Given the description of an element on the screen output the (x, y) to click on. 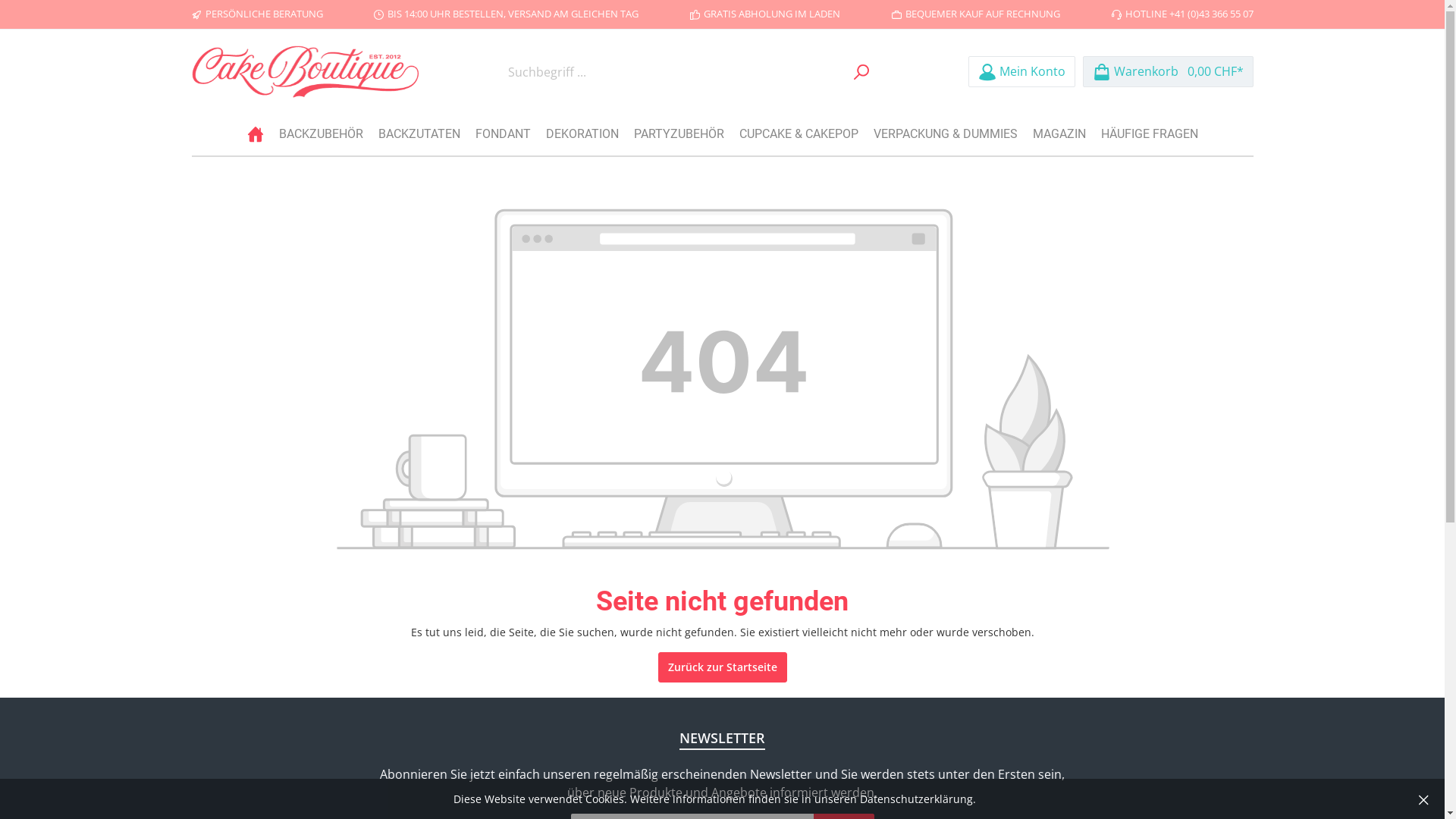
+41 (0)43 366 55 07 Element type: text (1211, 13)
Mein Konto Element type: text (1020, 71)
VERPACKUNG & DUMMIES Element type: text (945, 133)
BACKZUTATEN Element type: text (418, 133)
FONDANT Element type: text (502, 133)
CUPCAKE & CAKEPOP Element type: text (798, 133)
Home Element type: hover (255, 133)
DEKORATION Element type: text (582, 133)
Zur Startseite wechseln Element type: hover (304, 71)
Warenkorb 0,00 CHF* Element type: text (1167, 71)
MAGAZIN Element type: text (1059, 133)
